Given the description of an element on the screen output the (x, y) to click on. 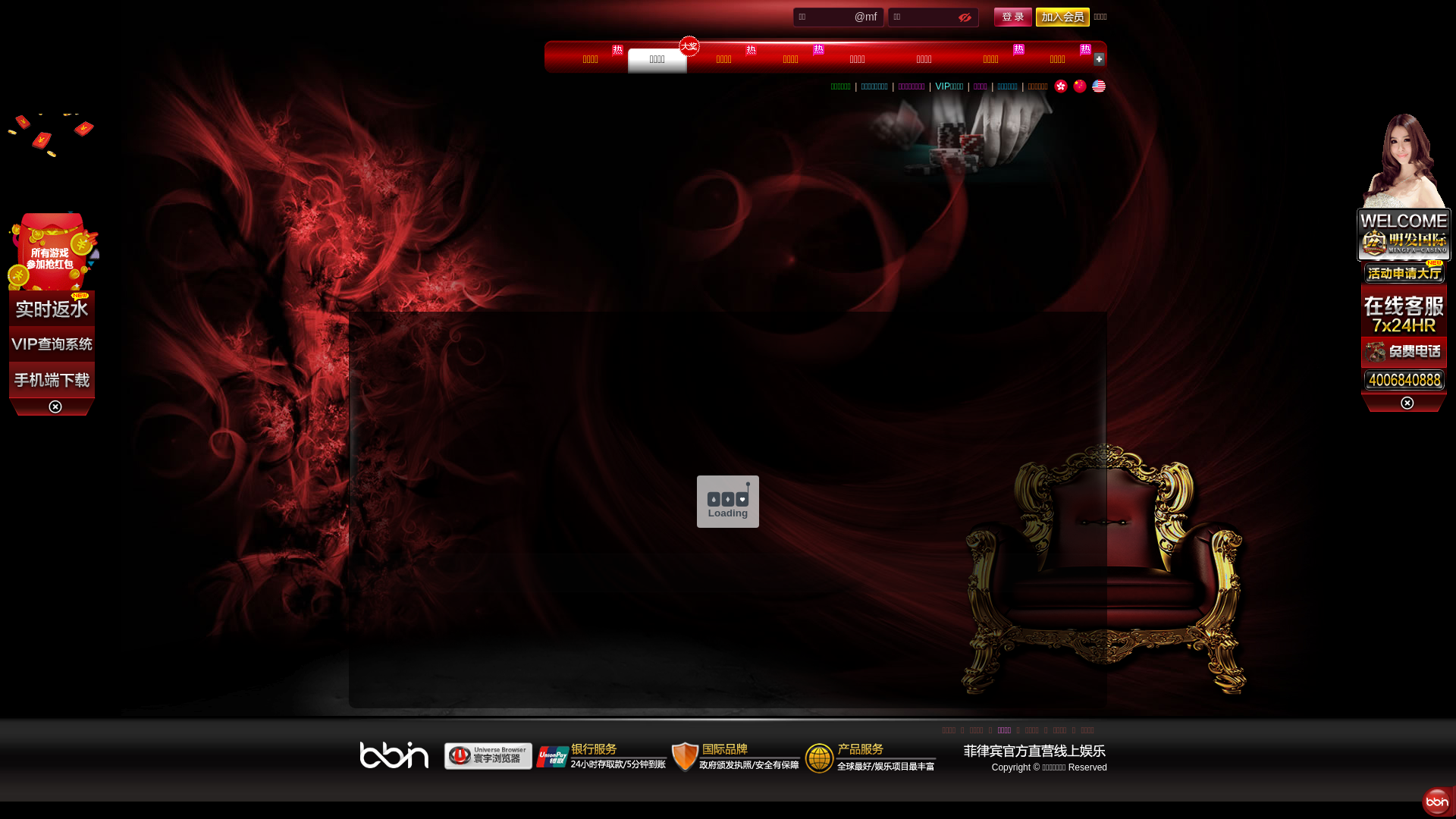
English Element type: hover (1098, 86)
